Given the description of an element on the screen output the (x, y) to click on. 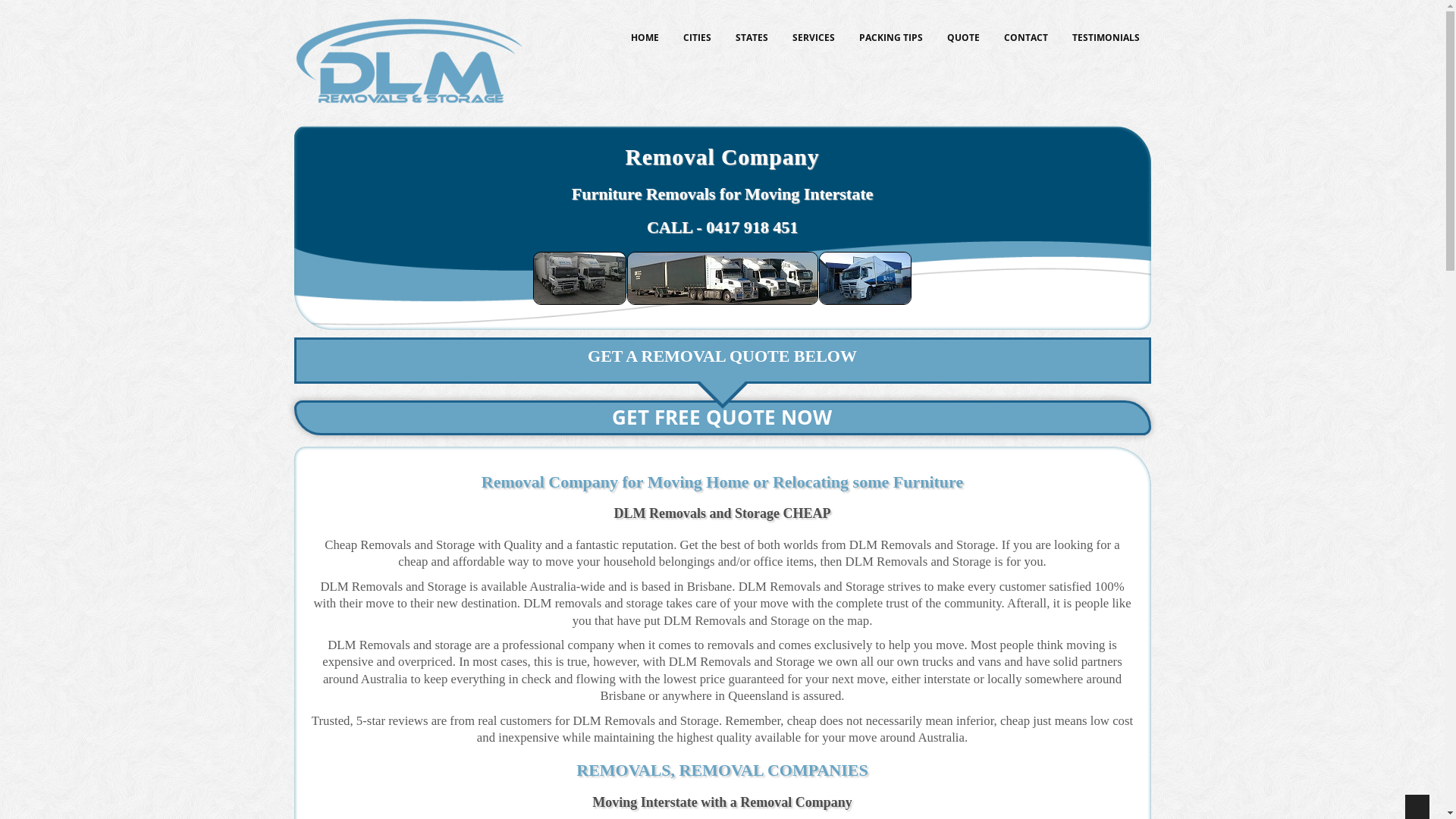
CITIES Element type: text (696, 37)
SERVICES Element type: text (813, 37)
GET FREE QUOTE NOW Element type: text (722, 417)
QUOTE Element type: text (963, 37)
0417 918 451 Element type: text (751, 226)
HOME Element type: text (643, 37)
STATES Element type: text (750, 37)
CONTACT Element type: text (1024, 37)
PACKING TIPS Element type: text (890, 37)
TESTIMONIALS Element type: text (1105, 37)
